Given the description of an element on the screen output the (x, y) to click on. 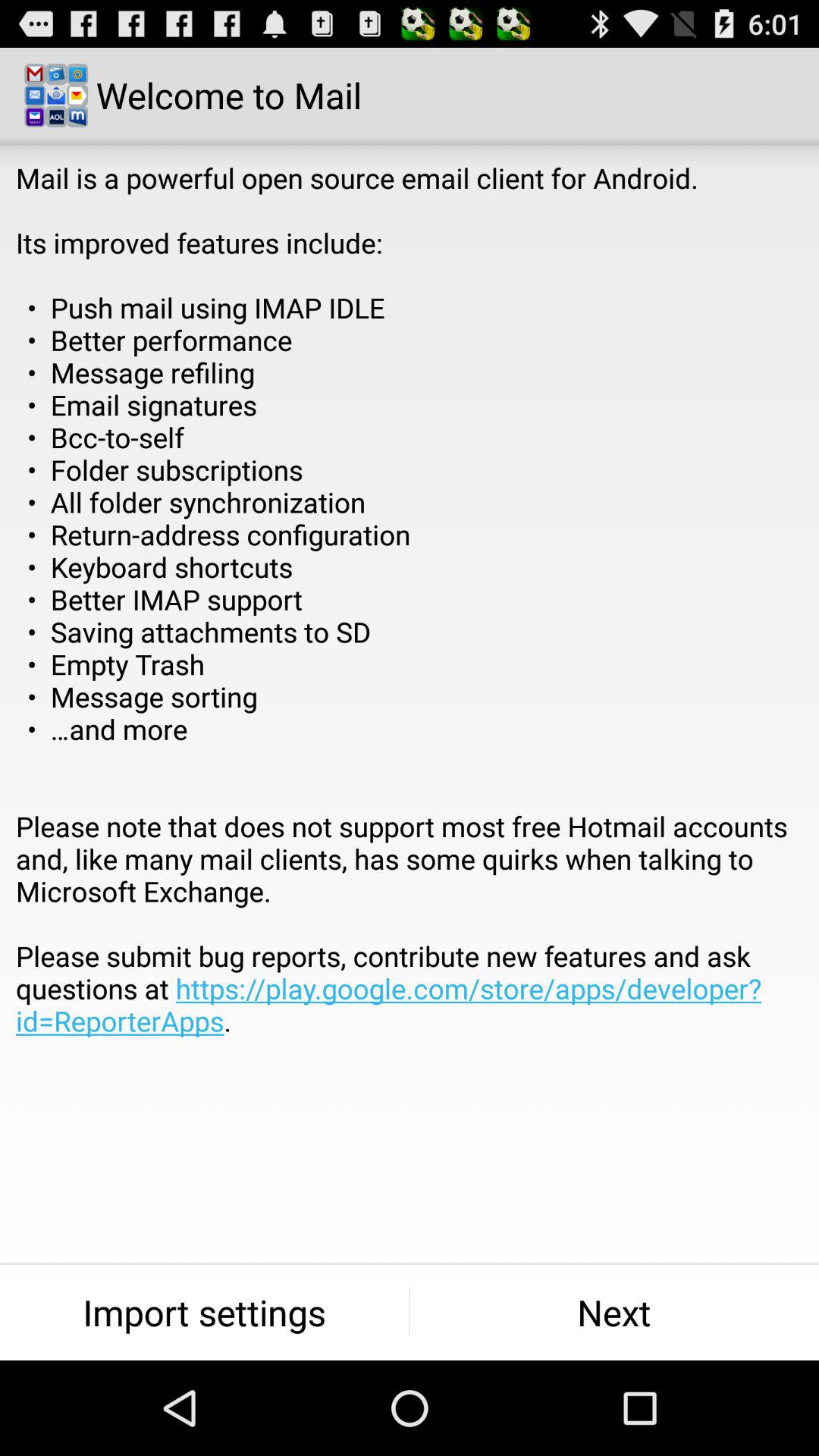
tap the app at the center (409, 631)
